Given the description of an element on the screen output the (x, y) to click on. 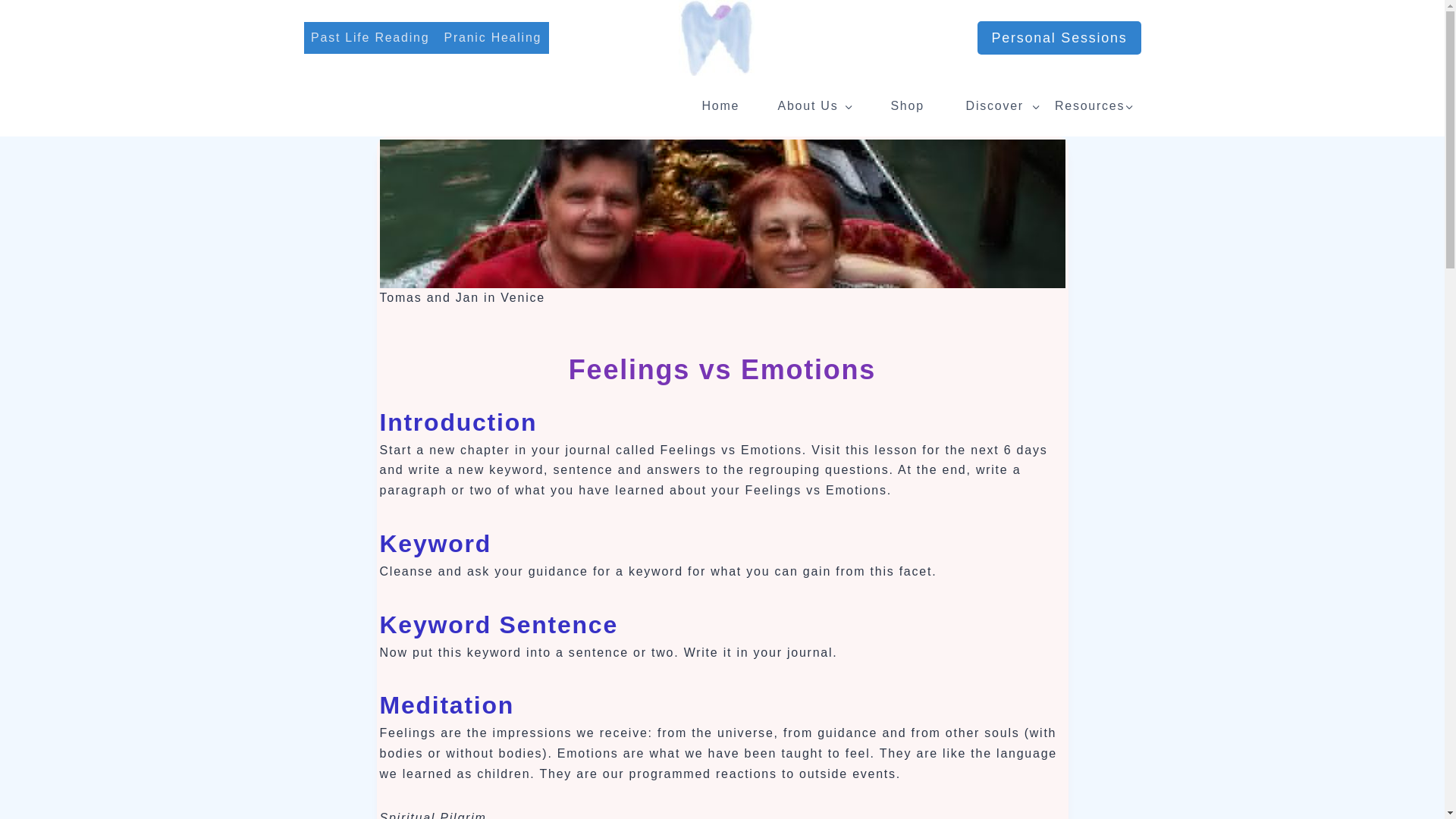
Shop (906, 105)
Resources (1093, 105)
Profiles and Courses (906, 105)
Discover (999, 105)
Past Life Reading (368, 37)
Home (720, 105)
About Us (813, 105)
Personal Sessions (1058, 37)
Pranic Healing (492, 37)
